Given the description of an element on the screen output the (x, y) to click on. 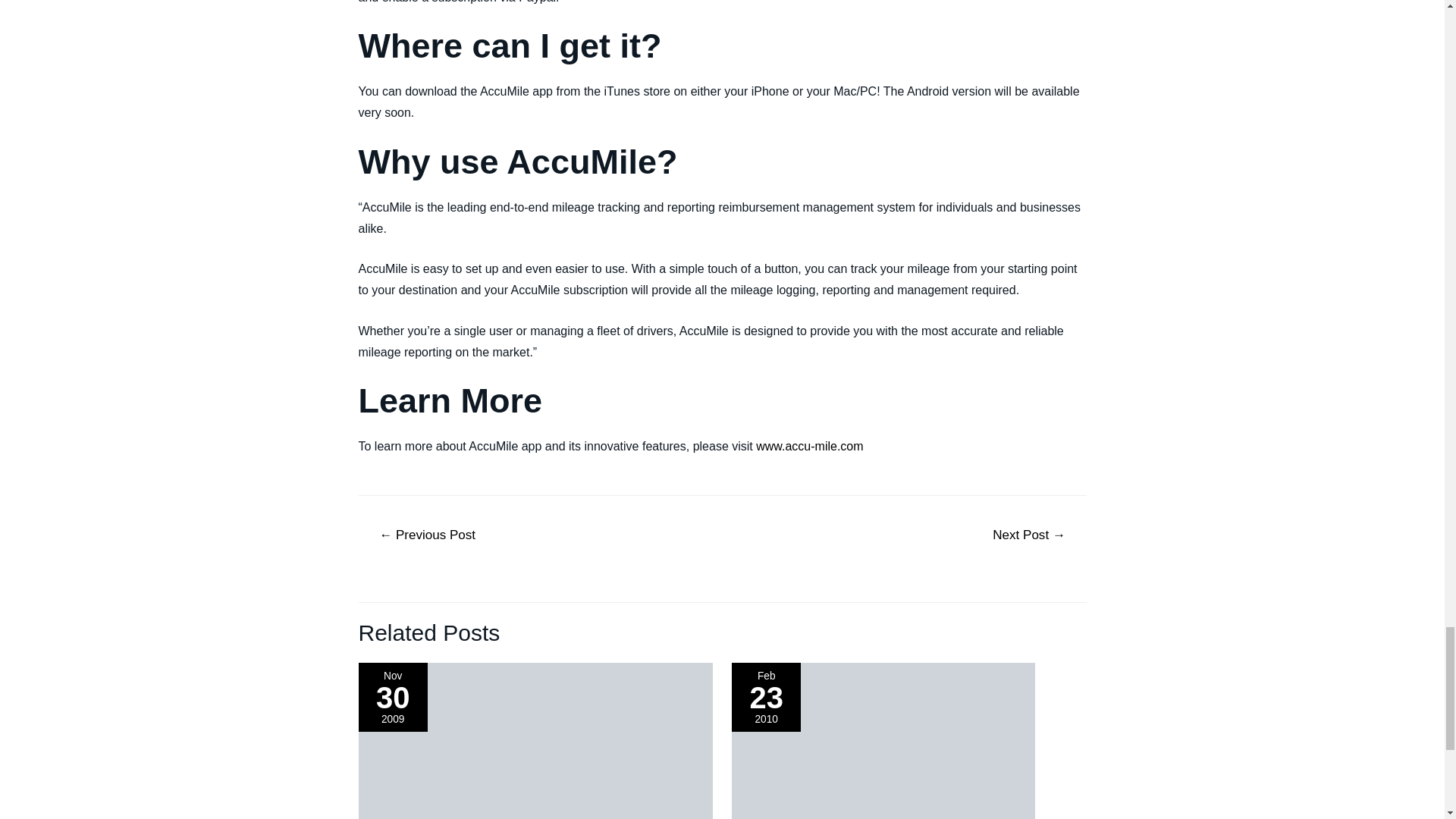
Not just menu boards: QSR letter boards going digital (427, 536)
Digital Screens come to Stark's Building (1029, 536)
